Given the description of an element on the screen output the (x, y) to click on. 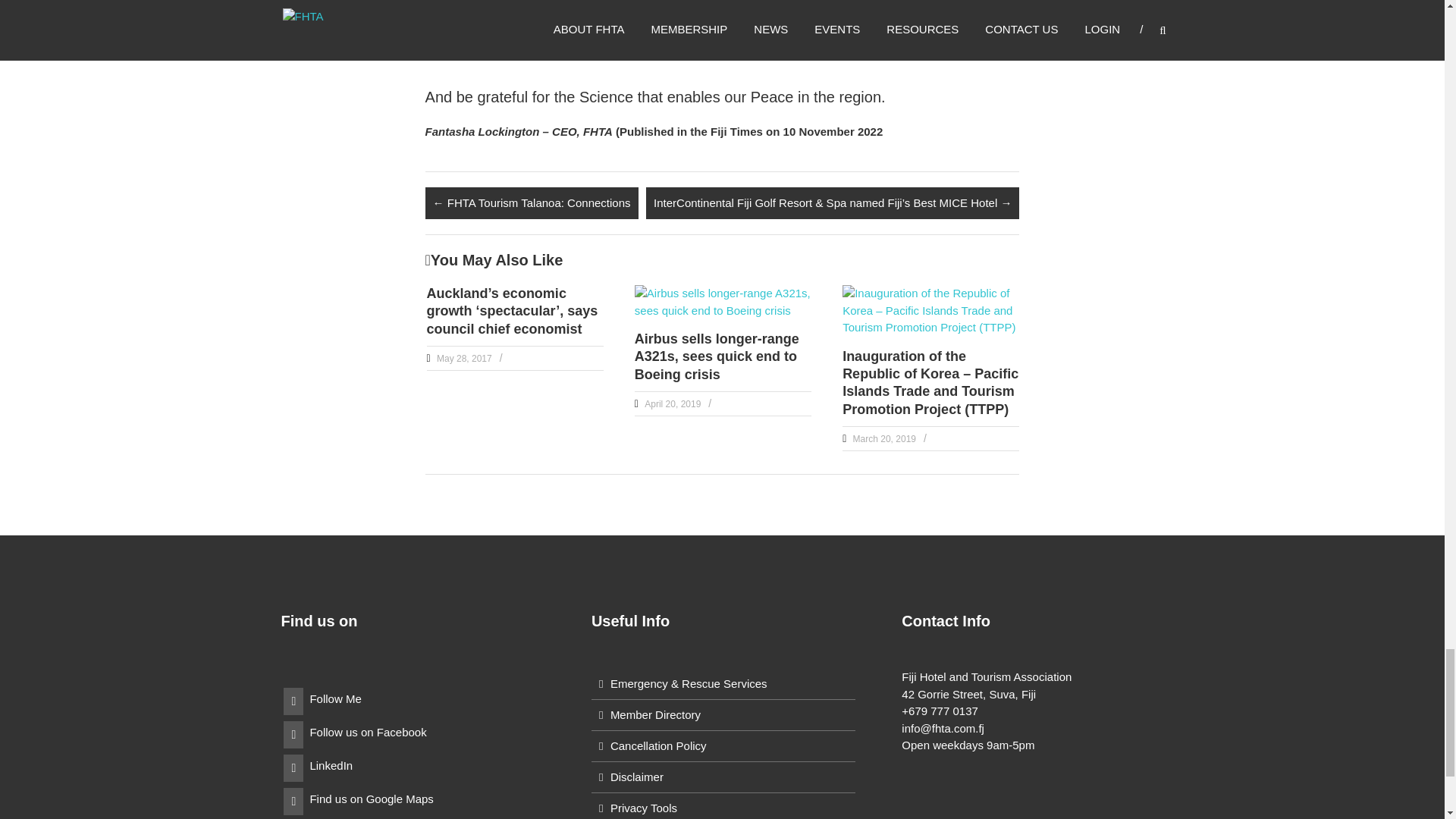
11:53 am (671, 403)
11:10 am (462, 357)
